Given the description of an element on the screen output the (x, y) to click on. 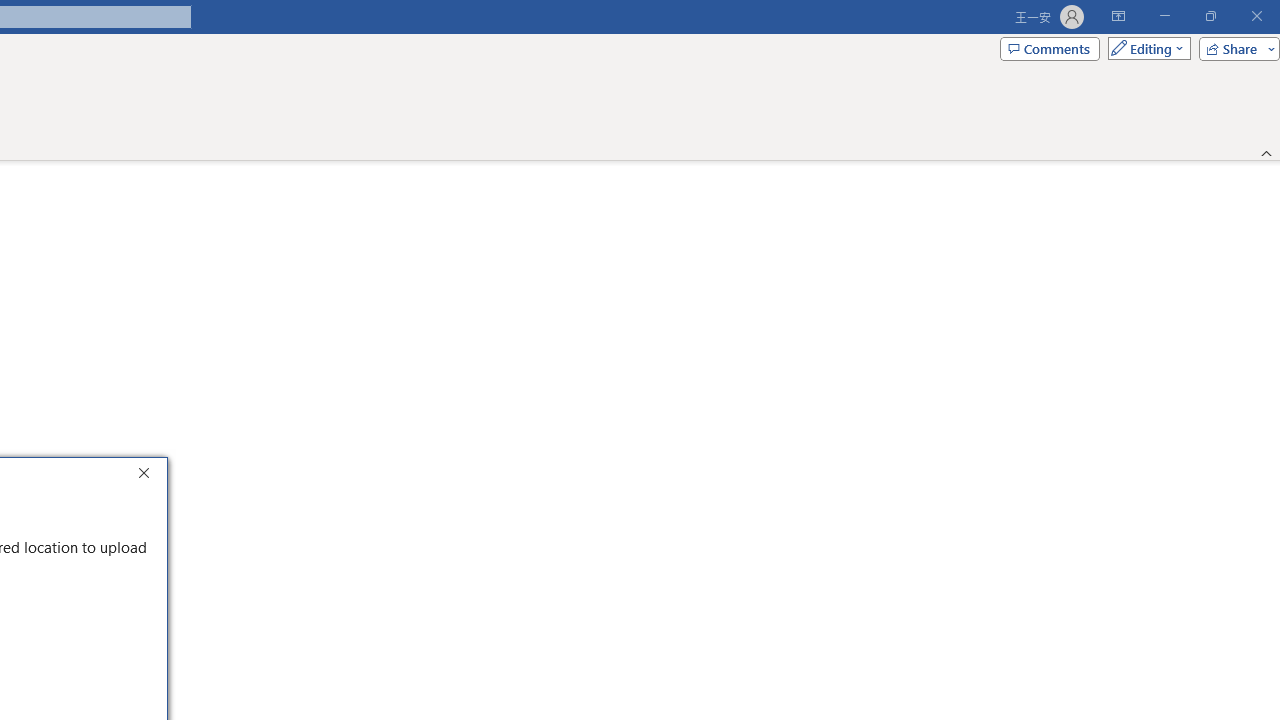
Editing (1144, 47)
